Given the description of an element on the screen output the (x, y) to click on. 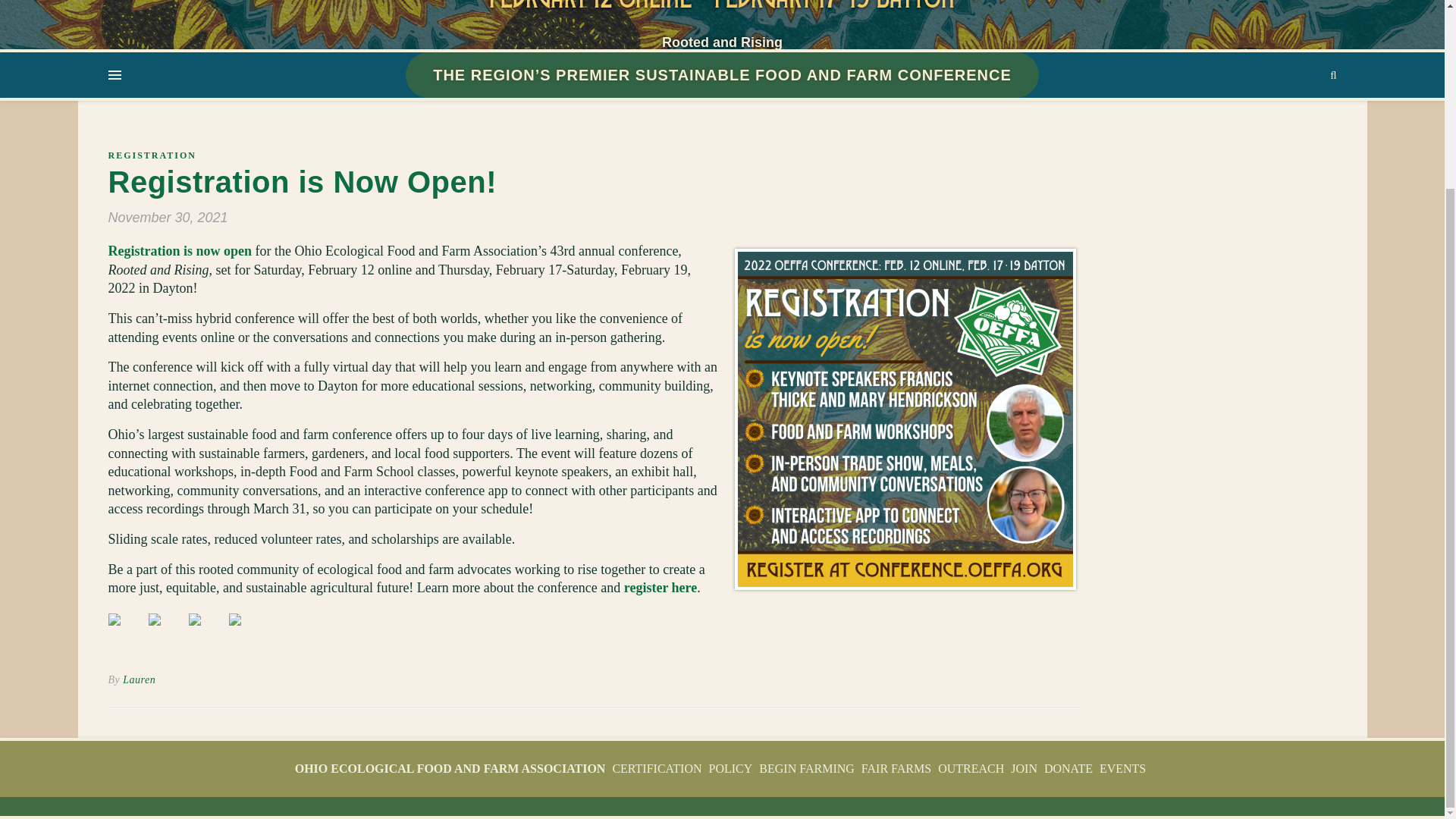
register here (660, 587)
Posts by Lauren (138, 680)
Share on Facebook (125, 631)
OEFFA Conference (721, 12)
Registration is now open (179, 250)
REGISTRATION (151, 154)
Share on Linkedin (205, 631)
Share by email (246, 631)
Share on Twitter (166, 631)
